Given the description of an element on the screen output the (x, y) to click on. 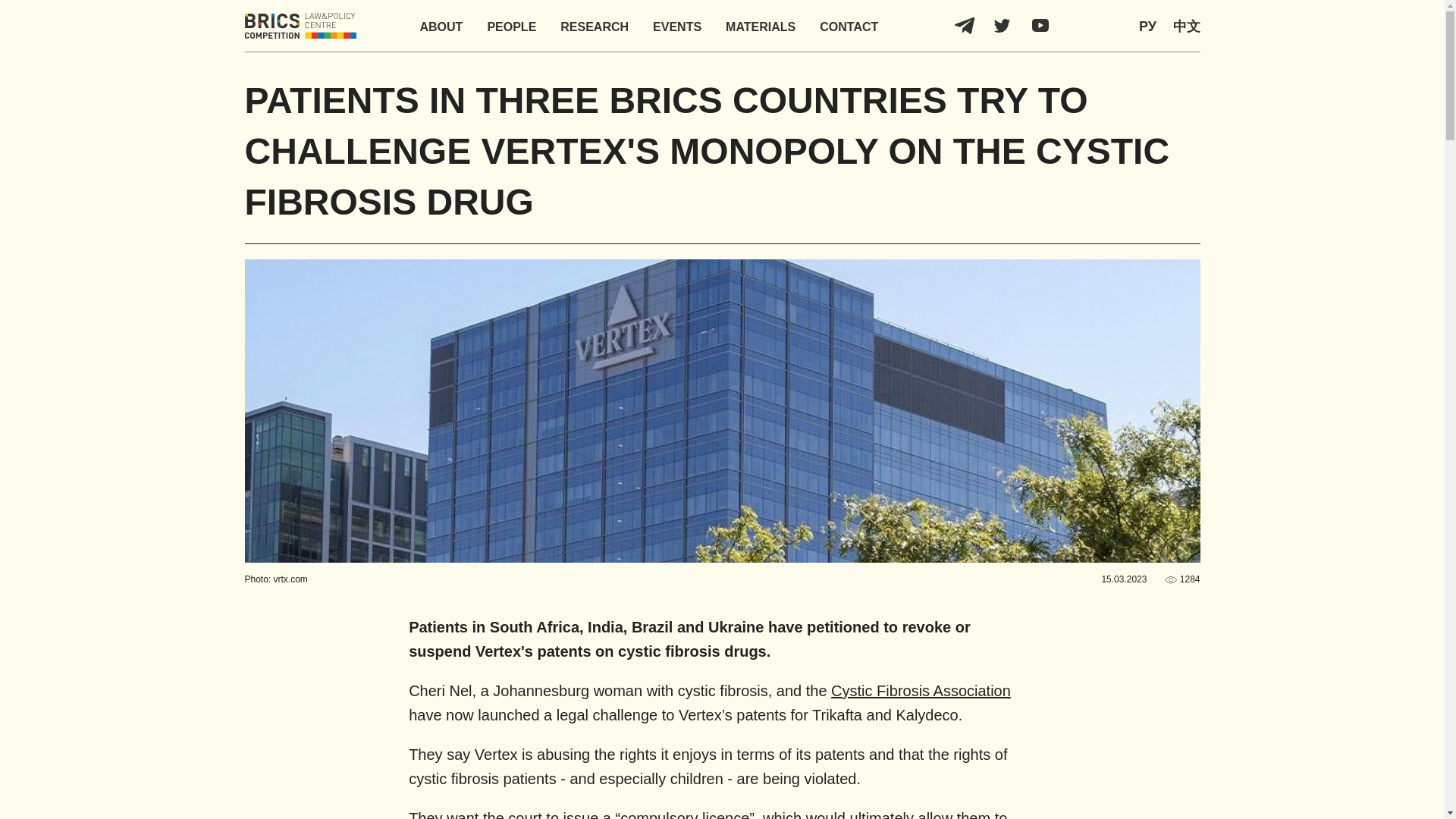
Youtube (1040, 25)
ABOUT (441, 27)
PEOPLE (510, 27)
MATERIALS (759, 27)
CONTACT (848, 27)
Telegram (964, 25)
RESEARCH (594, 27)
Cystic Fibrosis Association (920, 690)
BRICS (299, 25)
vrtx.com (290, 579)
EVENTS (676, 27)
Twitter (1002, 25)
